Given the description of an element on the screen output the (x, y) to click on. 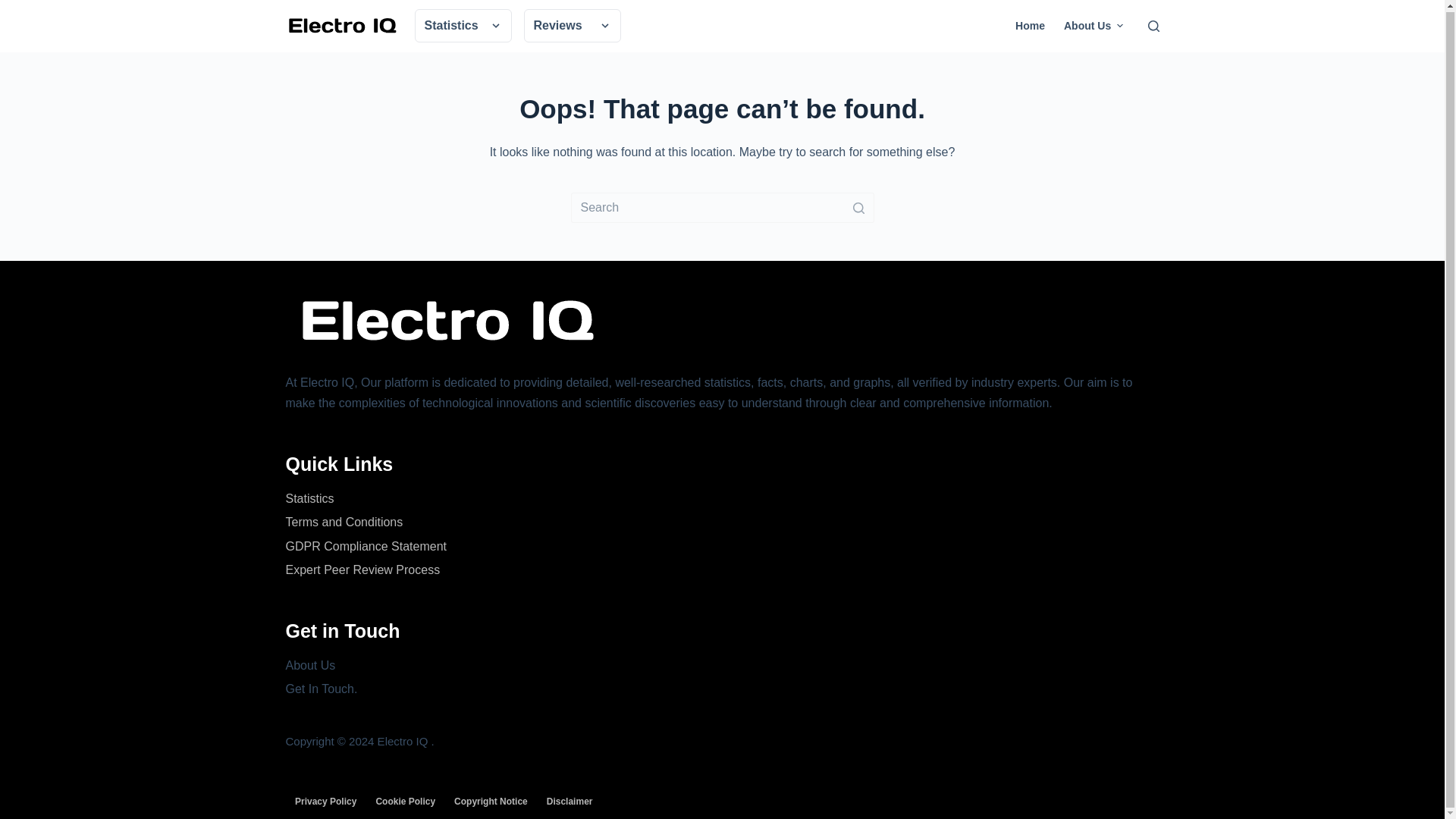
Search Input (721, 207)
Quantum Computing Statistics (783, 54)
Microchip Statistics (760, 54)
About Us (1093, 26)
Semiconductor Supply Chain Statistics (801, 54)
Biofuels Statistics (756, 54)
Statistics (462, 25)
Acer Statistics (748, 54)
Skip to content (15, 7)
Find More... (810, 58)
